Given the description of an element on the screen output the (x, y) to click on. 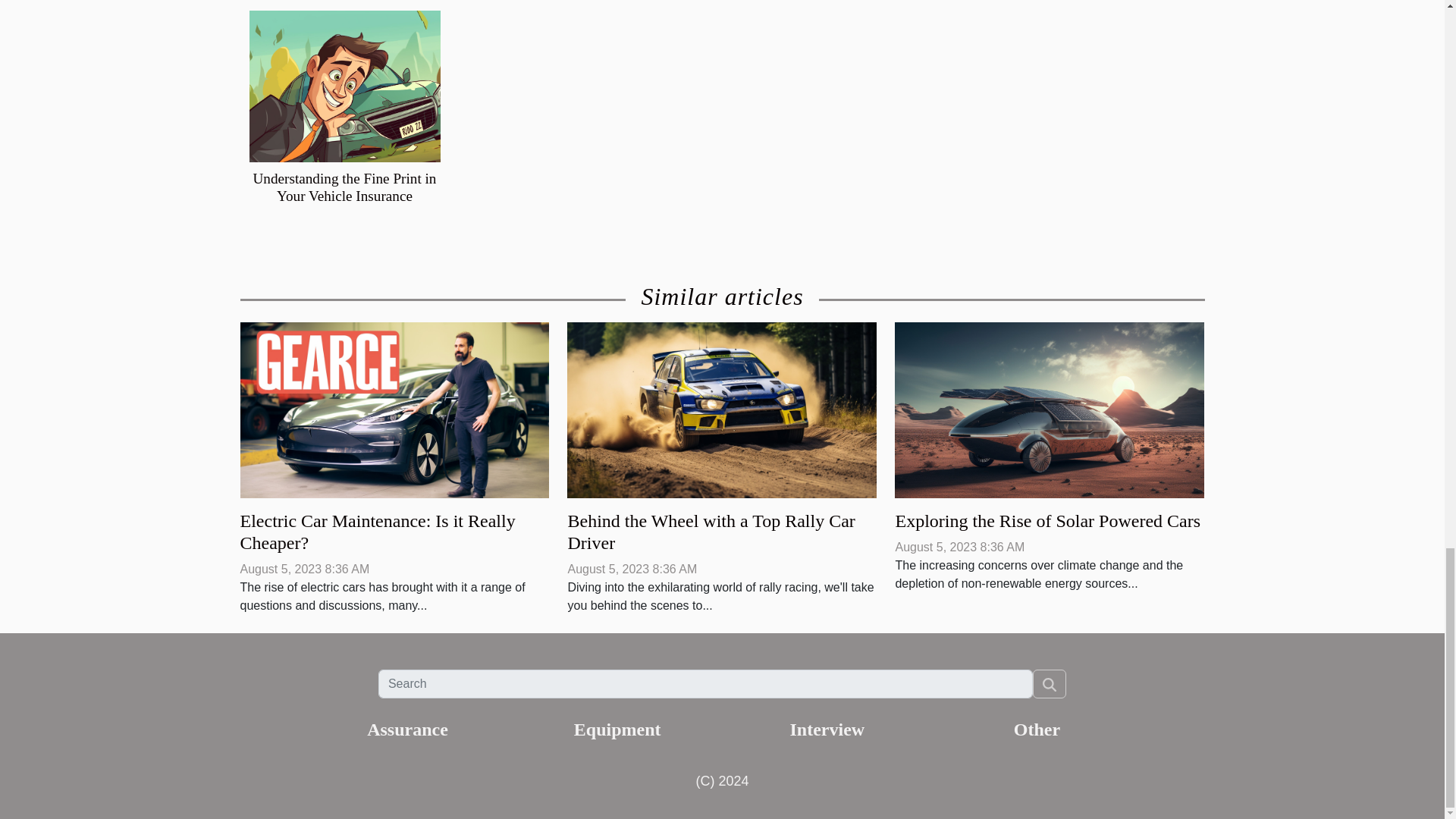
Assurance (407, 729)
Interview (827, 729)
Interview (827, 729)
Electric Car Maintenance: Is it Really Cheaper? (377, 531)
Understanding the Fine Print in Your Vehicle Insurance (344, 186)
Understanding the Fine Print in Your Vehicle Insurance (343, 85)
Exploring the Rise of Solar Powered Cars (1047, 520)
Exploring the Rise of Solar Powered Cars (1049, 408)
Equipment (617, 729)
Understanding the Fine Print in Your Vehicle Insurance (344, 186)
Assurance (407, 729)
Behind the Wheel with a Top Rally Car Driver (721, 408)
Behind the Wheel with a Top Rally Car Driver (710, 531)
Electric Car Maintenance: Is it Really Cheaper? (394, 408)
Behind the Wheel with a Top Rally Car Driver (710, 531)
